Given the description of an element on the screen output the (x, y) to click on. 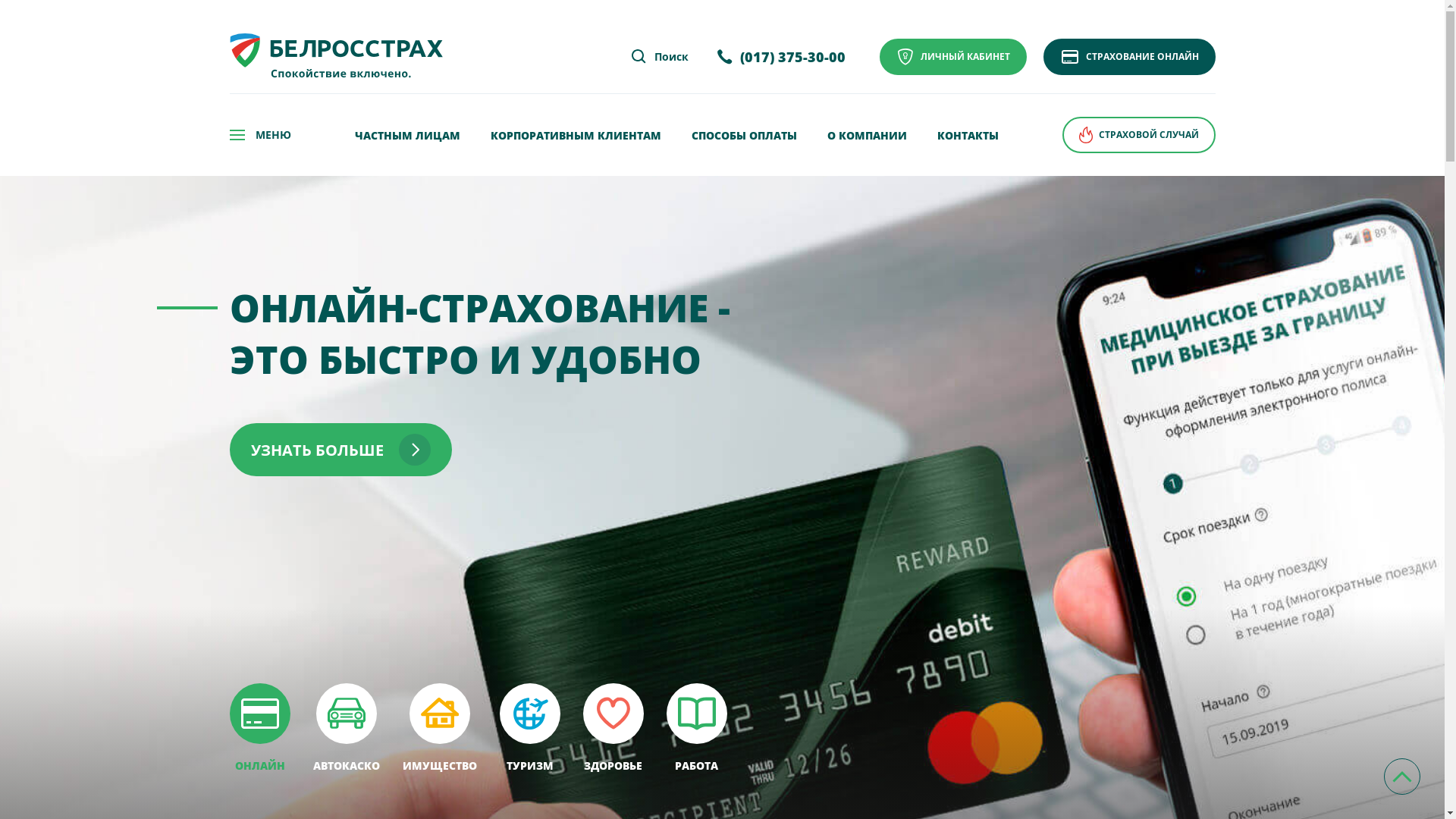
(017) 375-30-00 Element type: text (780, 56)
